Given the description of an element on the screen output the (x, y) to click on. 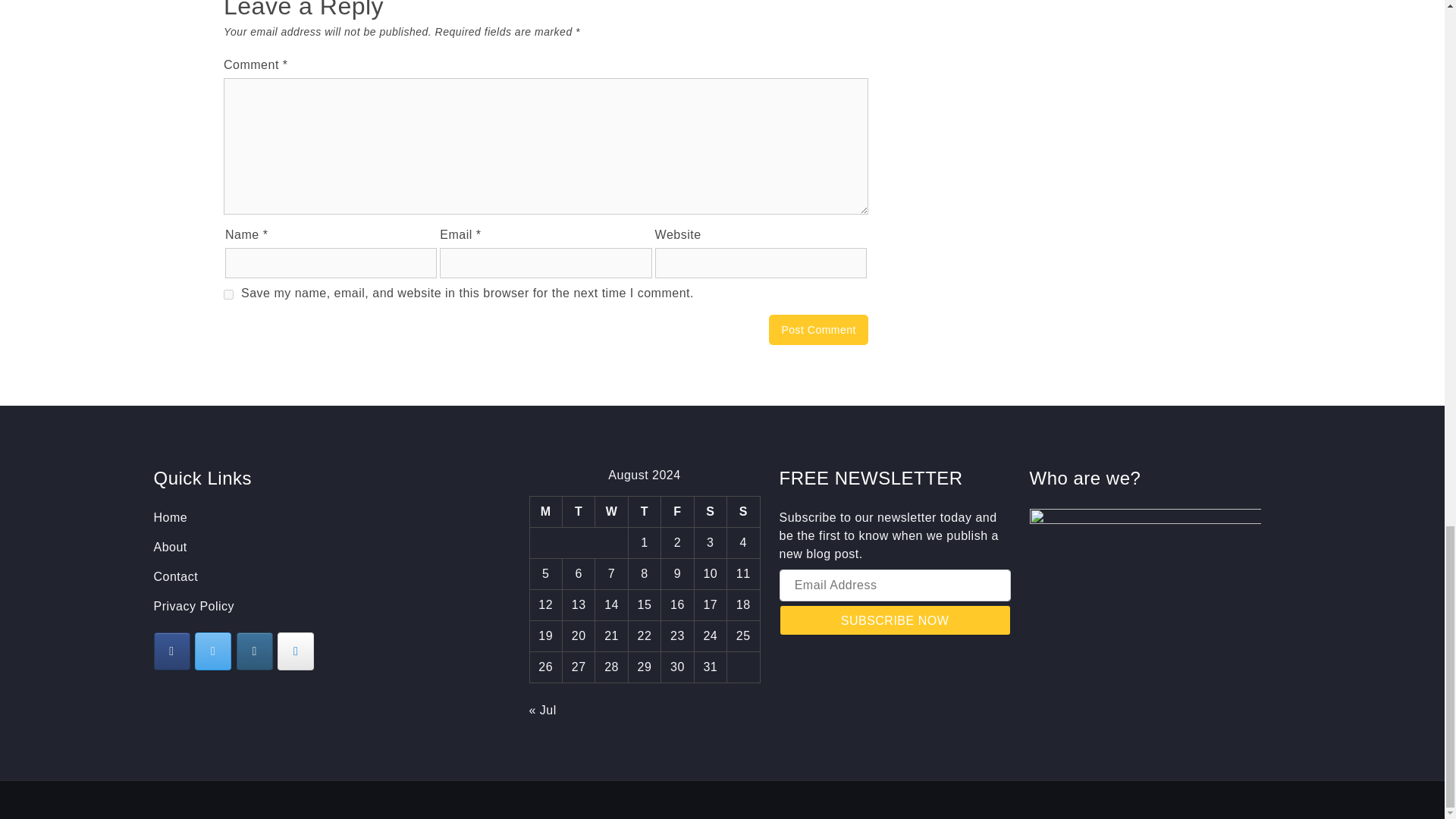
Perrys Bridge Reptile Park on X Twitter (213, 651)
About (169, 546)
Contact (175, 576)
Wednesday (611, 511)
Post Comment (817, 329)
Perrys Bridge Reptile Park on Skype (296, 651)
Privacy Policy (193, 605)
Monday (545, 511)
SUBSCRIBE NOW (894, 620)
Thursday (644, 511)
